Given the description of an element on the screen output the (x, y) to click on. 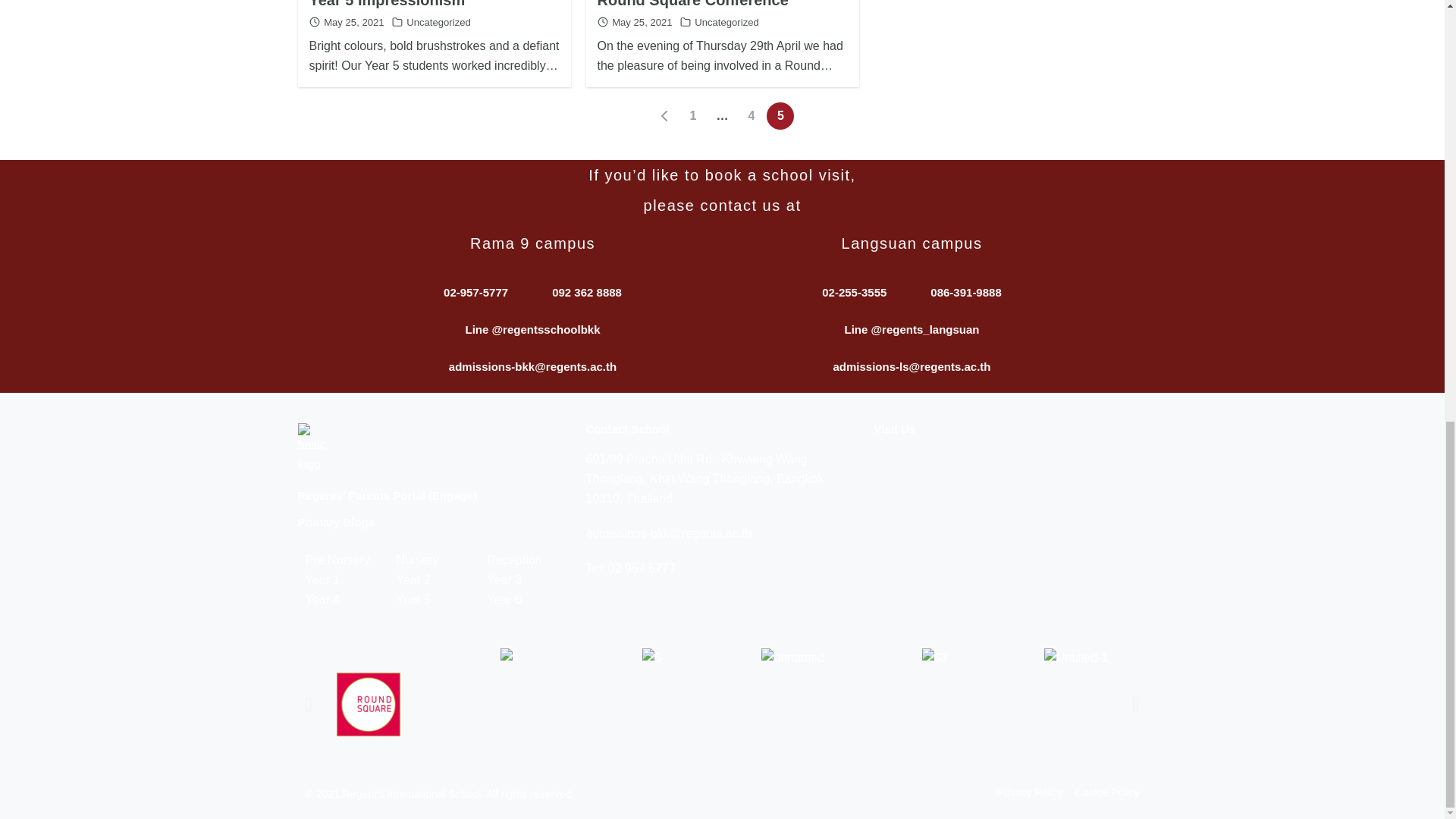
Google Maps (1010, 532)
